Given the description of an element on the screen output the (x, y) to click on. 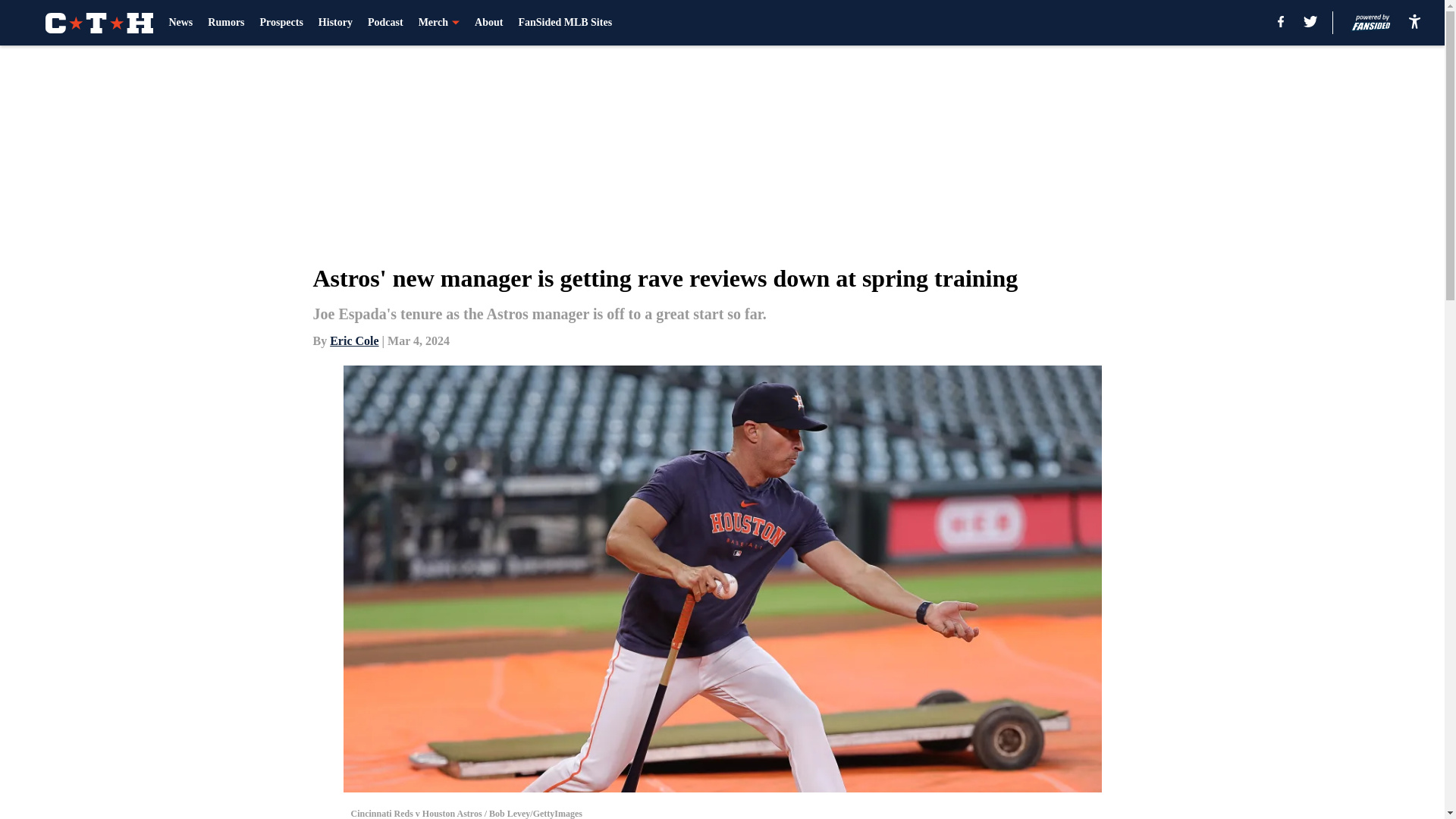
History (335, 22)
News (180, 22)
Rumors (226, 22)
Podcast (385, 22)
FanSided MLB Sites (564, 22)
Prospects (281, 22)
About (488, 22)
Eric Cole (354, 340)
